Given the description of an element on the screen output the (x, y) to click on. 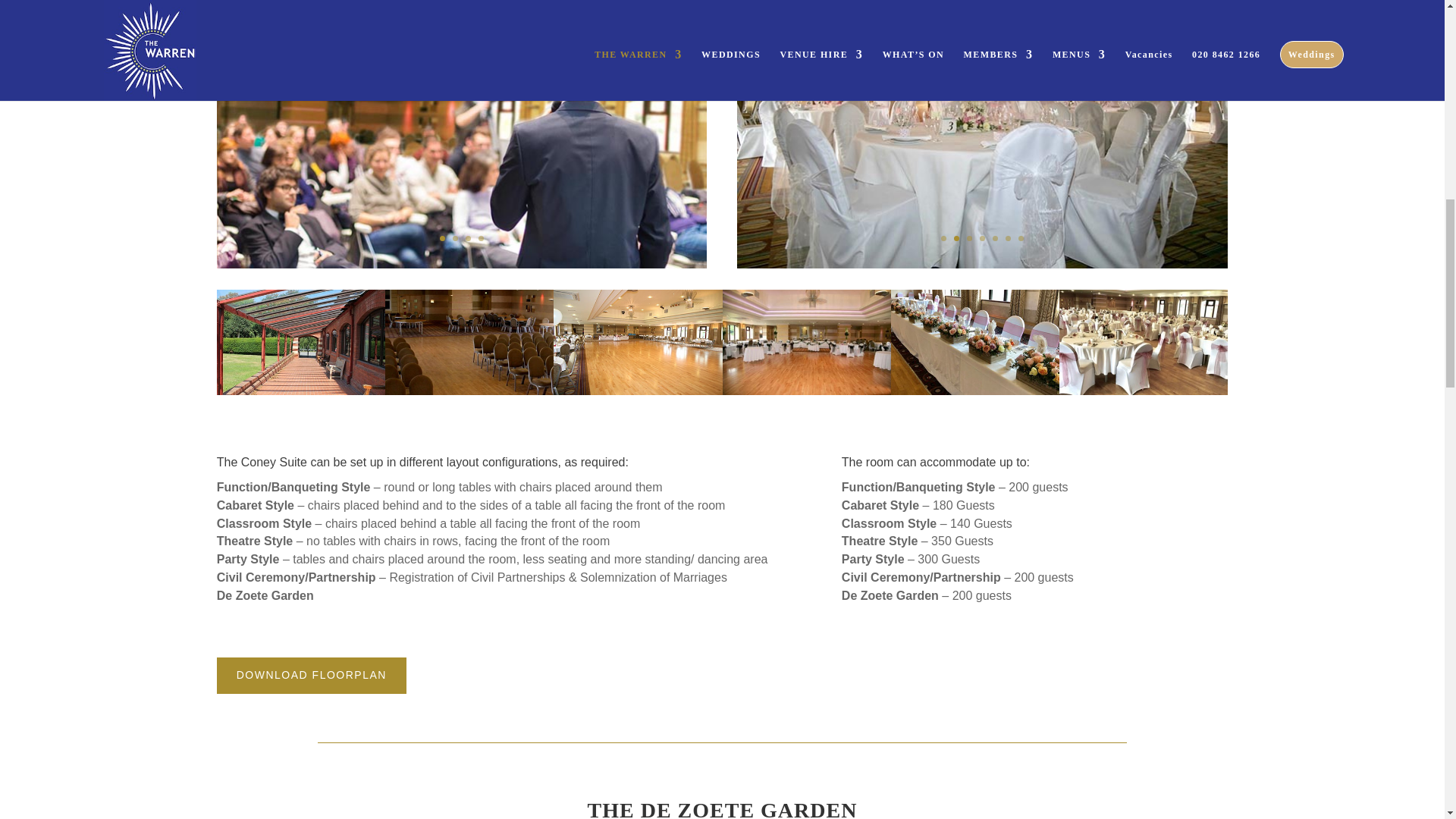
The Warren Coney Suite sm 3 (975, 341)
The Warren Coney Suite sm 6 min (300, 341)
The Warren Coney Suite sm 1 (805, 341)
The Warren Coney Suite sm 4 (1143, 341)
The Warren Coney Suite sm 2 (637, 341)
The Warren Coney Suite sm 5 (469, 341)
